Given the description of an element on the screen output the (x, y) to click on. 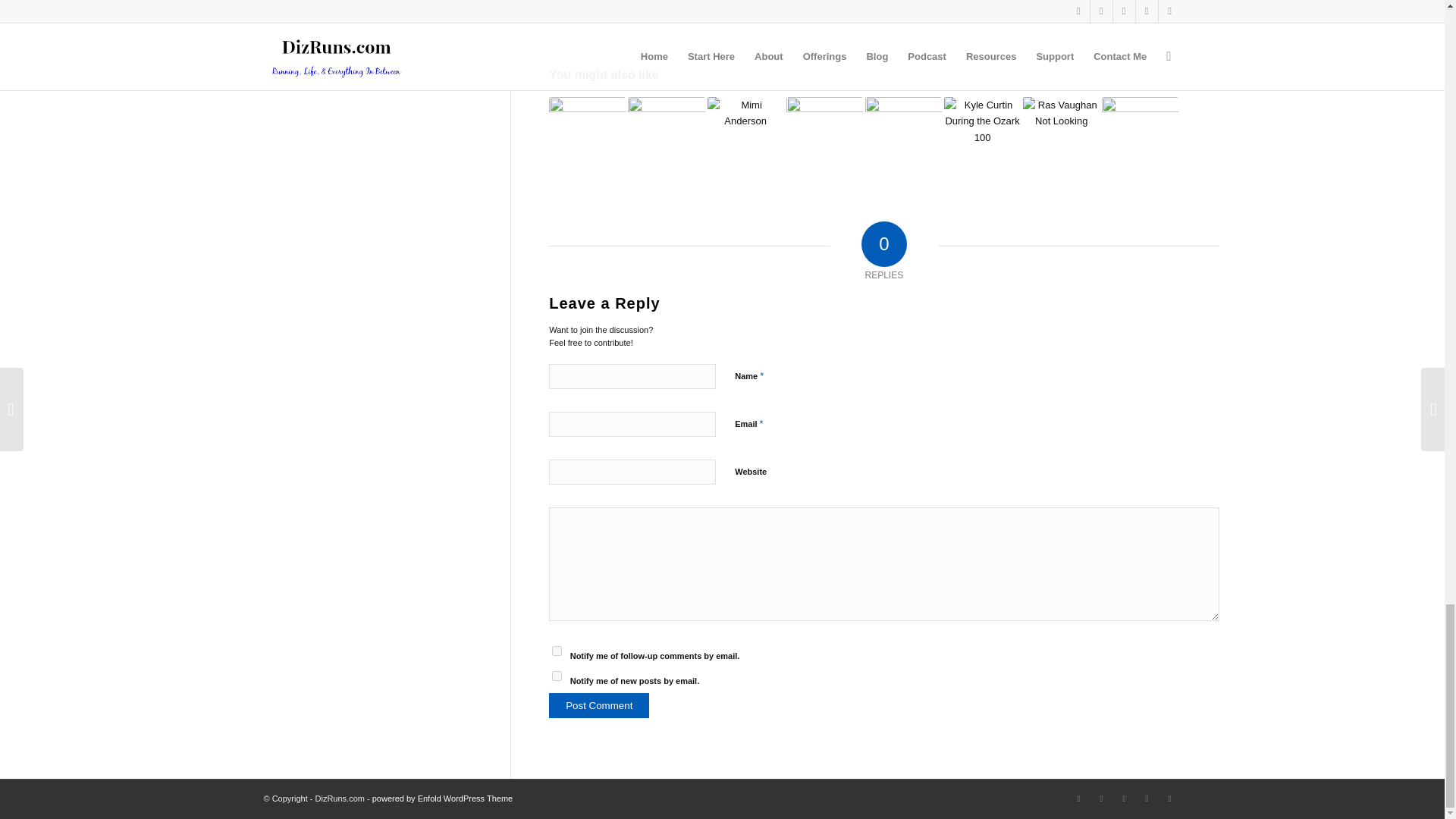
subscribe (556, 651)
subscribe (556, 675)
Post Comment (598, 705)
